Given the description of an element on the screen output the (x, y) to click on. 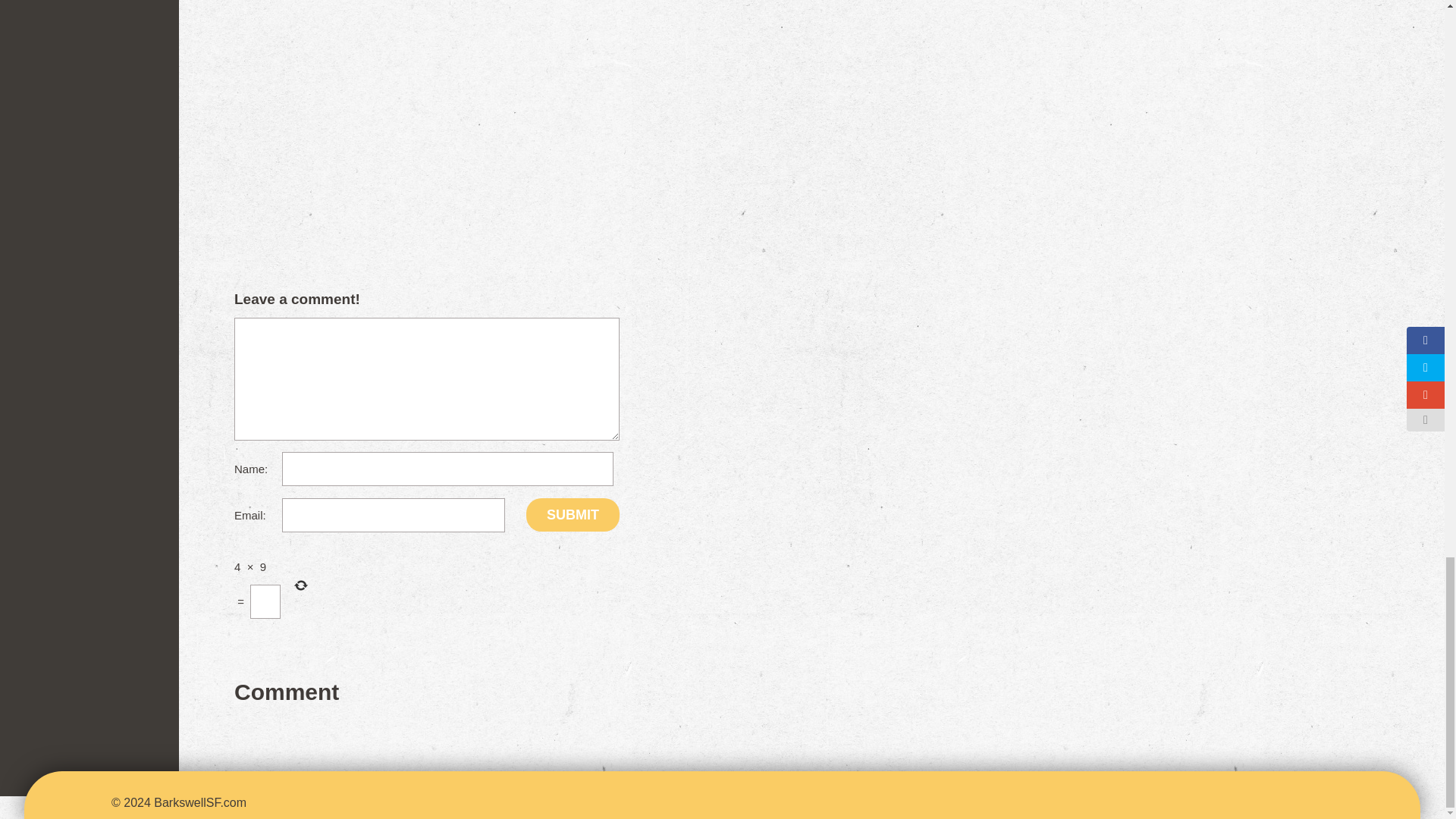
SUBMIT (572, 514)
